Given the description of an element on the screen output the (x, y) to click on. 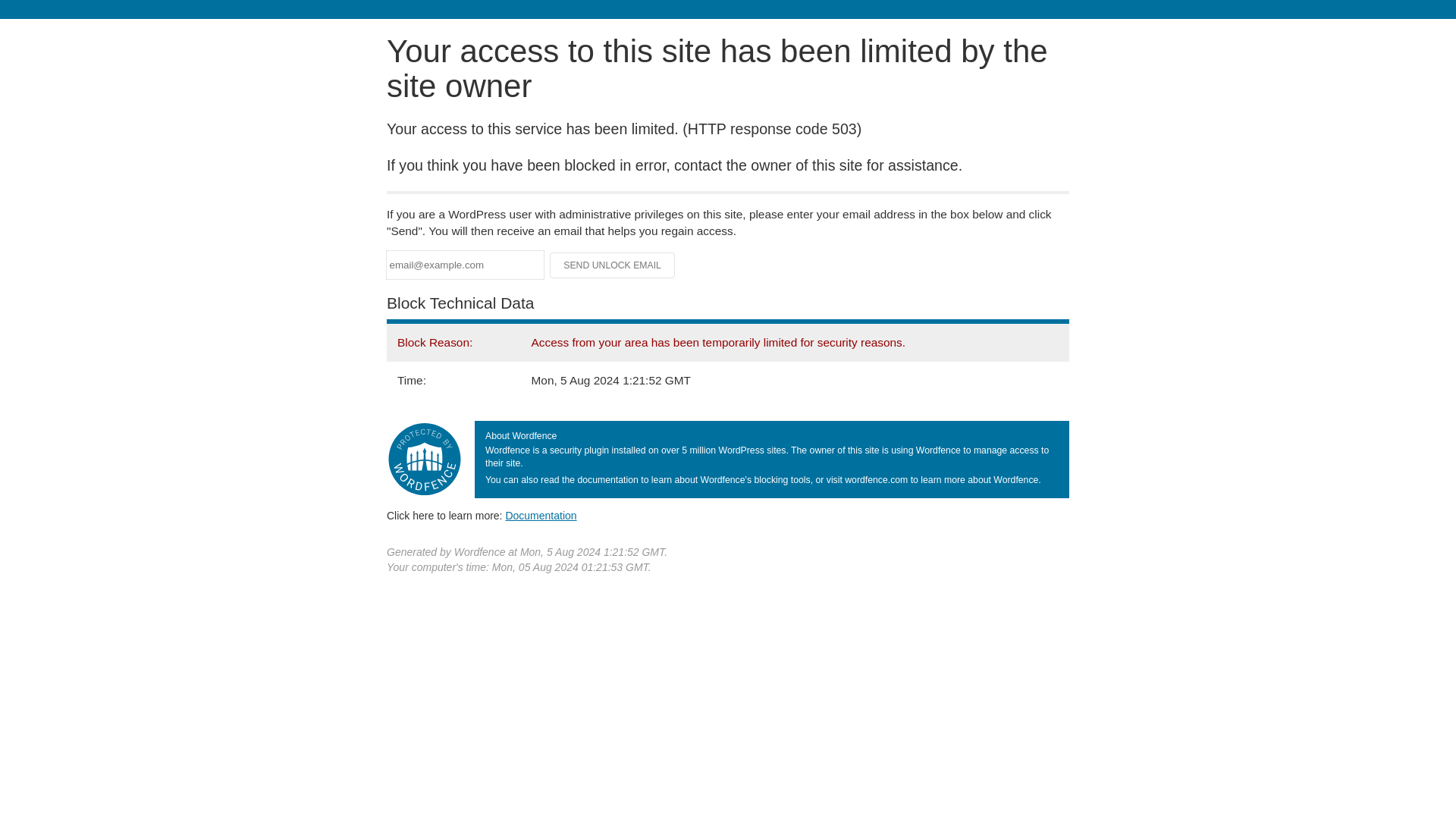
Send Unlock Email (612, 265)
Documentation (540, 515)
Send Unlock Email (612, 265)
